Given the description of an element on the screen output the (x, y) to click on. 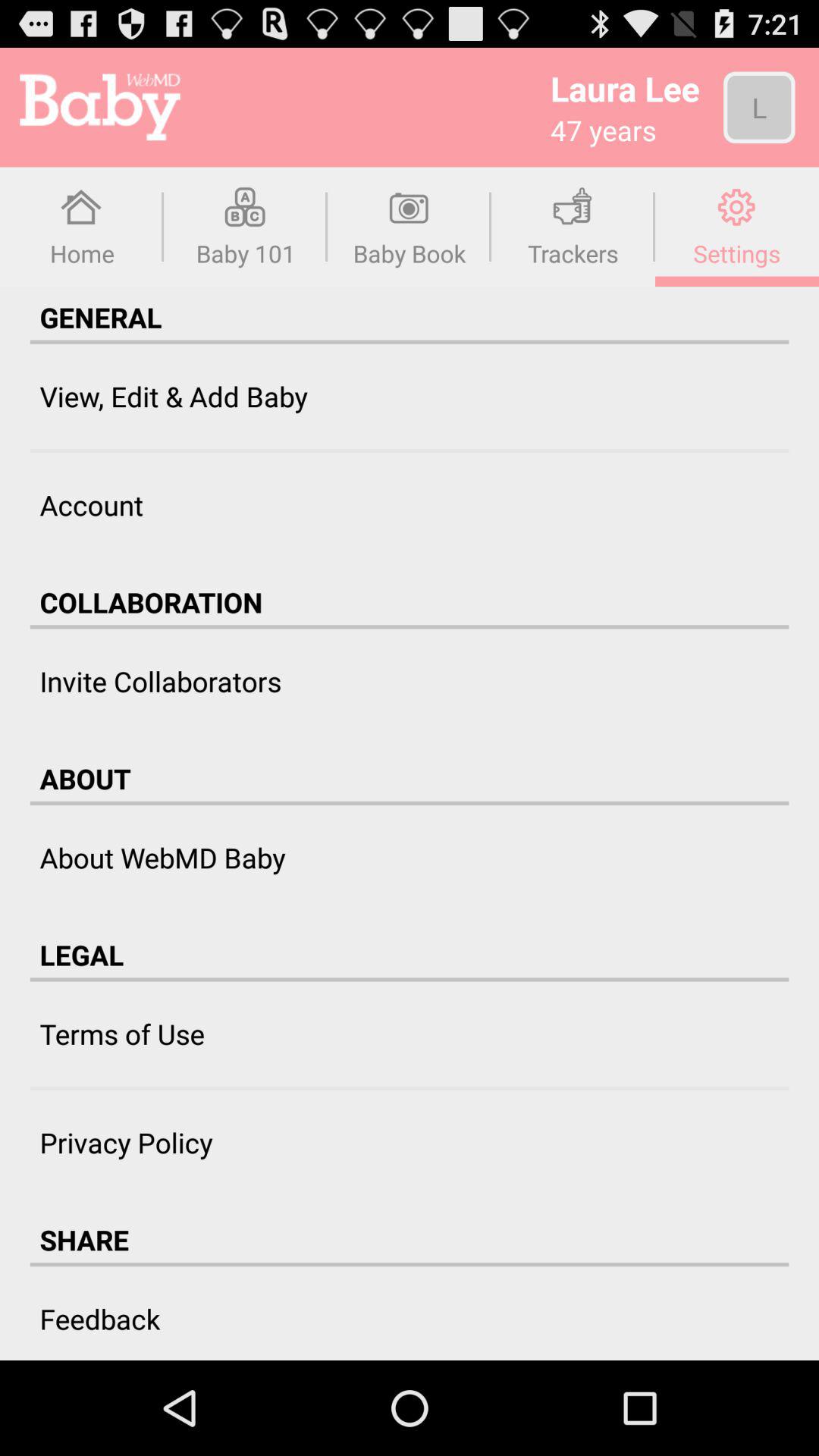
flip to account item (91, 504)
